Given the description of an element on the screen output the (x, y) to click on. 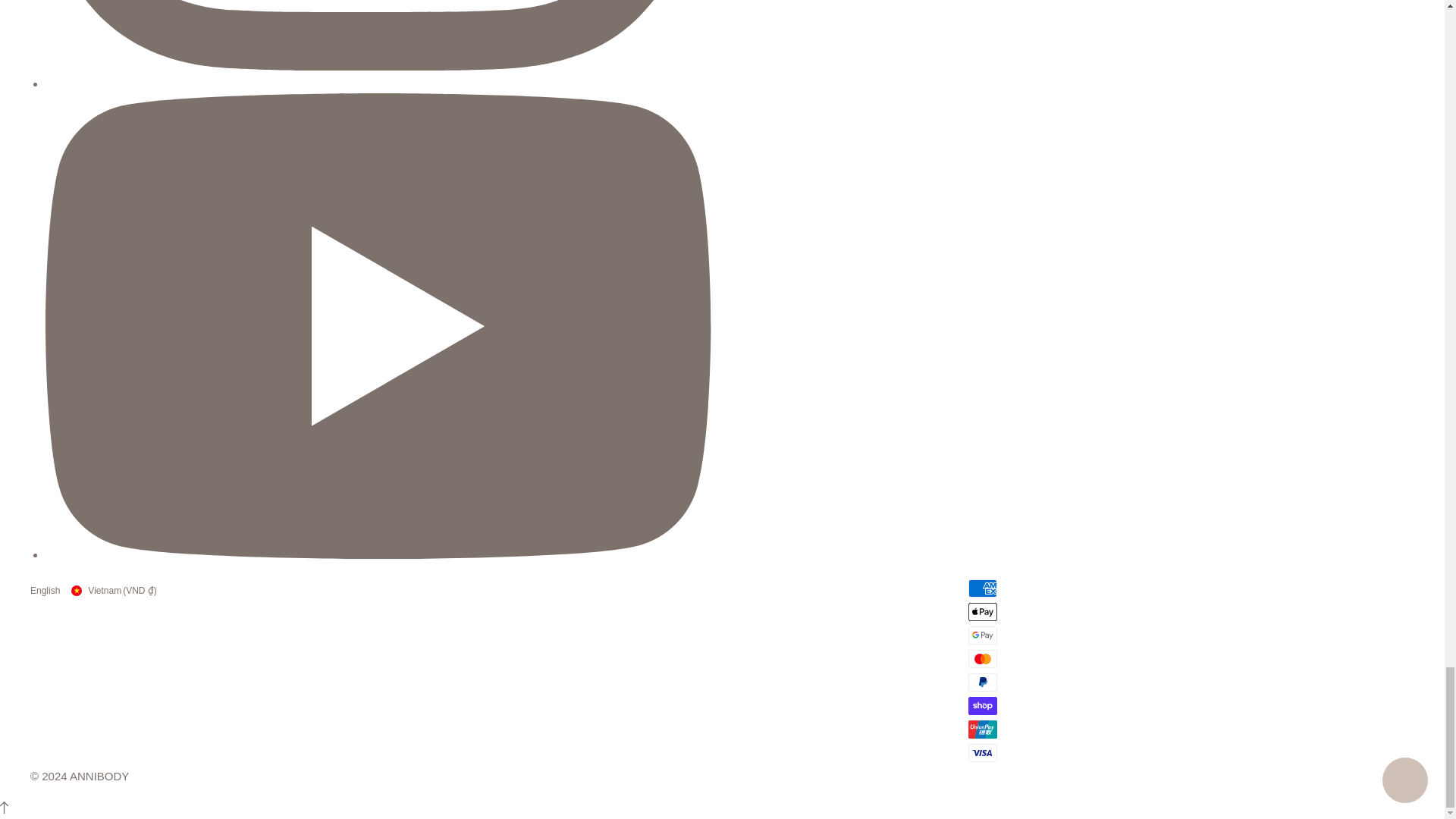
Apple Pay (982, 611)
American Express (982, 588)
Mastercard (982, 659)
PayPal (982, 682)
Google Pay (982, 635)
